Given the description of an element on the screen output the (x, y) to click on. 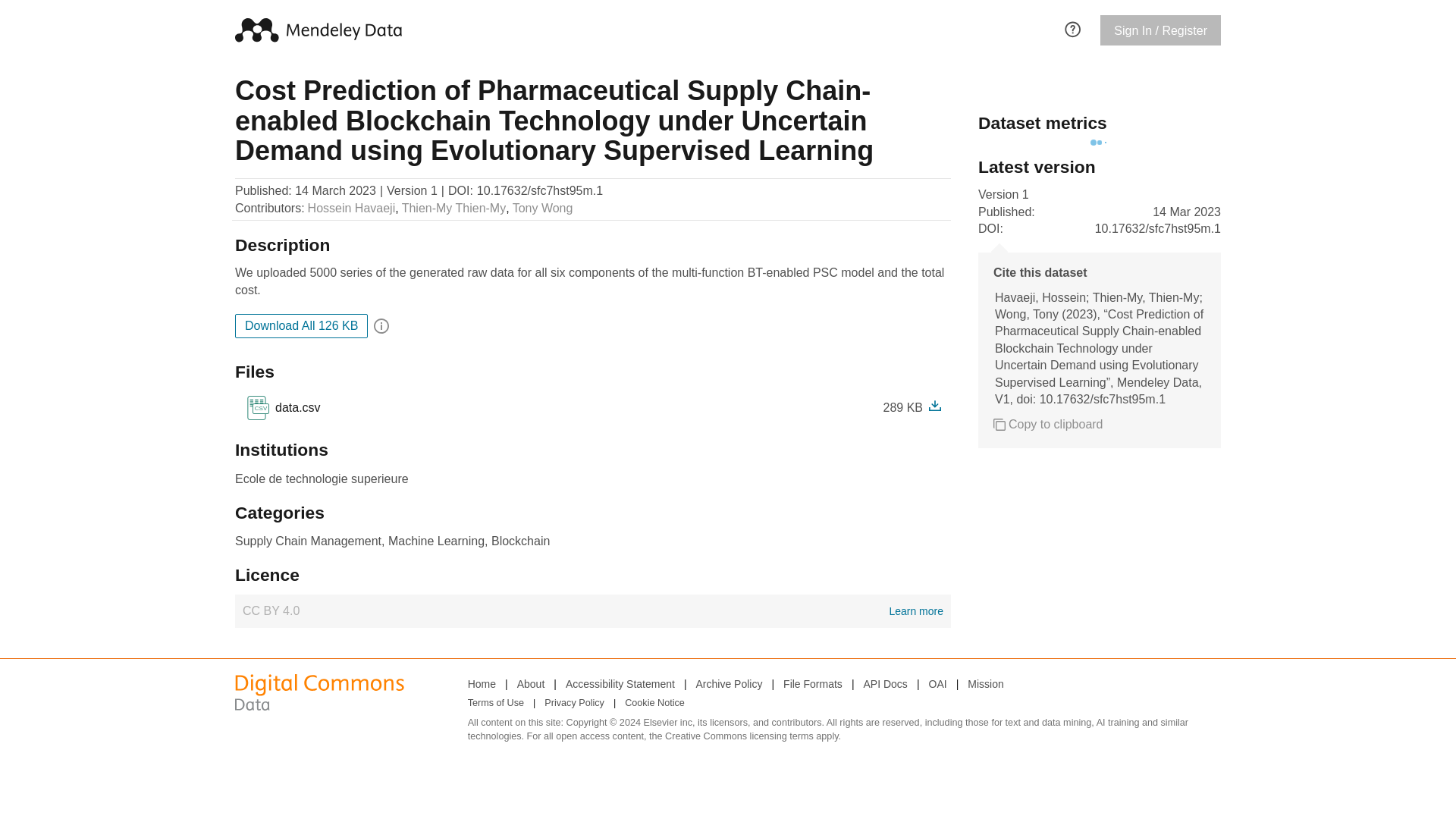
API Docs (885, 683)
Hossein Havaeji (351, 208)
Tony Wong (542, 208)
Archive Policy (728, 683)
About (282, 407)
data.csv (530, 683)
File Formats (294, 407)
Home (813, 683)
Thien-My Thien-My (481, 683)
Terms of Use (453, 208)
Accessibility Statement (495, 703)
Cookie Notice (620, 683)
OAI (654, 703)
FAQ (937, 683)
